Given the description of an element on the screen output the (x, y) to click on. 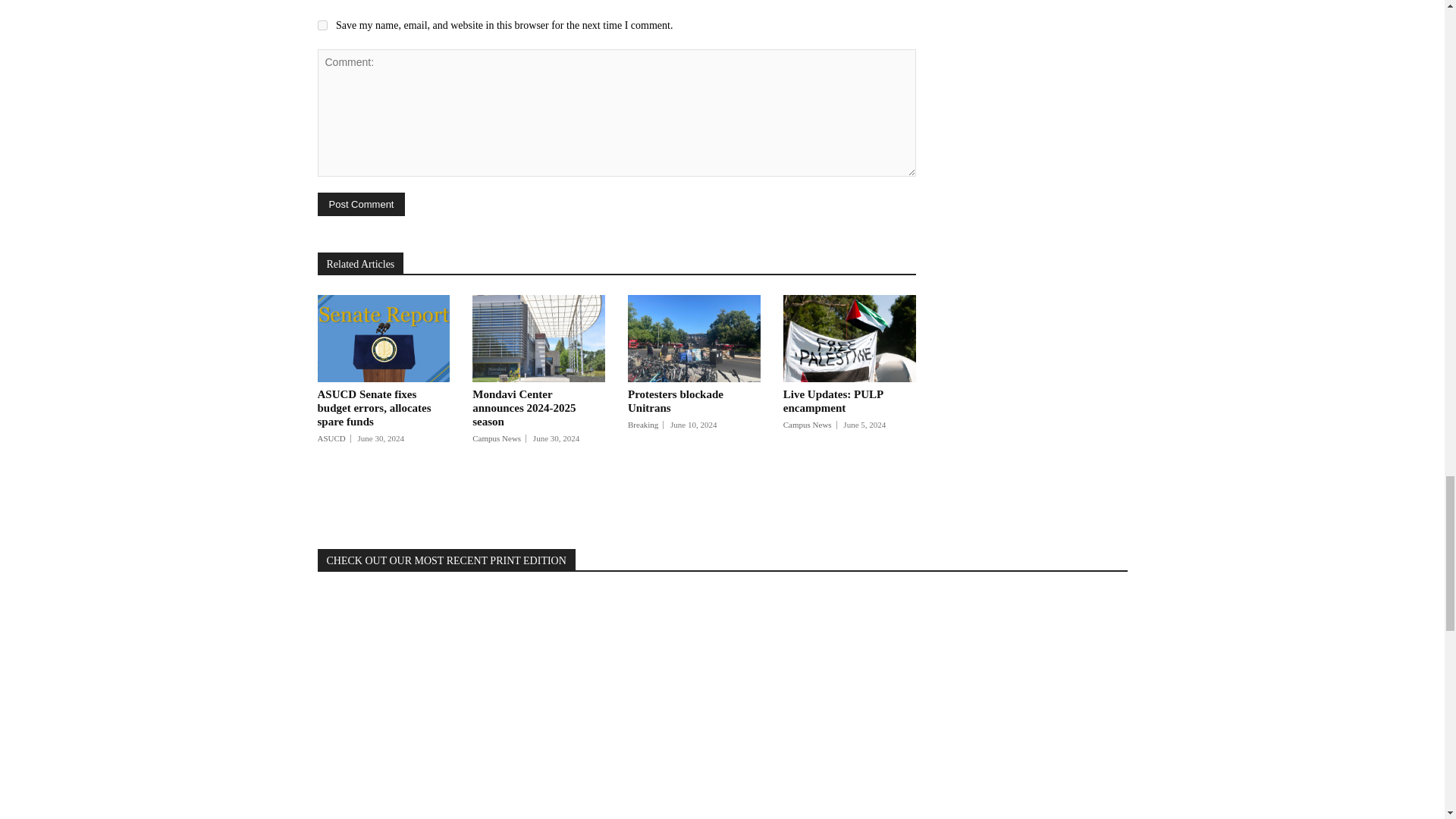
yes (321, 25)
Post Comment (360, 204)
